Given the description of an element on the screen output the (x, y) to click on. 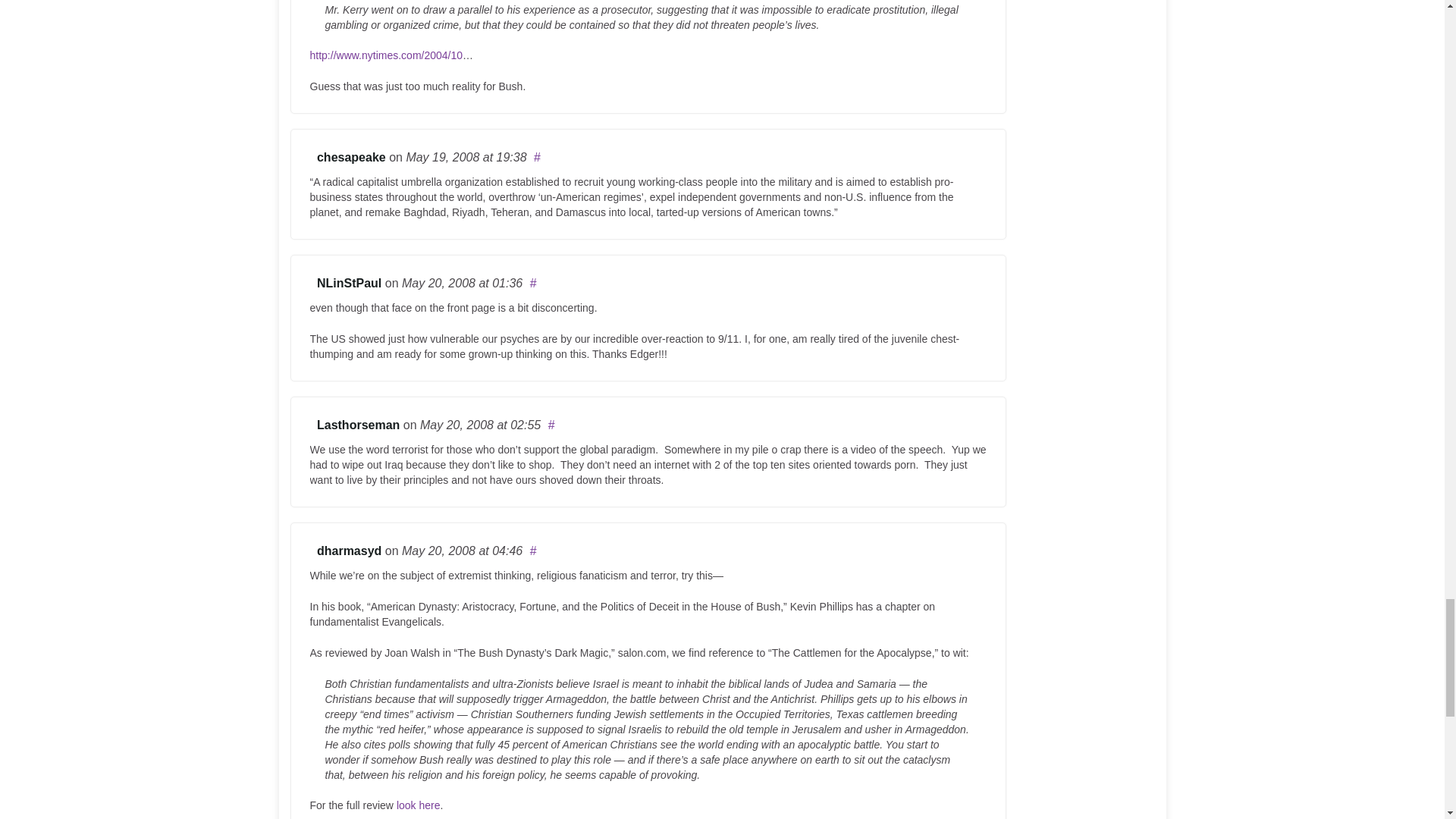
chesapeake (351, 156)
NLinStPaul (349, 282)
Lasthorseman (357, 424)
dharmasyd (349, 550)
look here (418, 805)
